Given the description of an element on the screen output the (x, y) to click on. 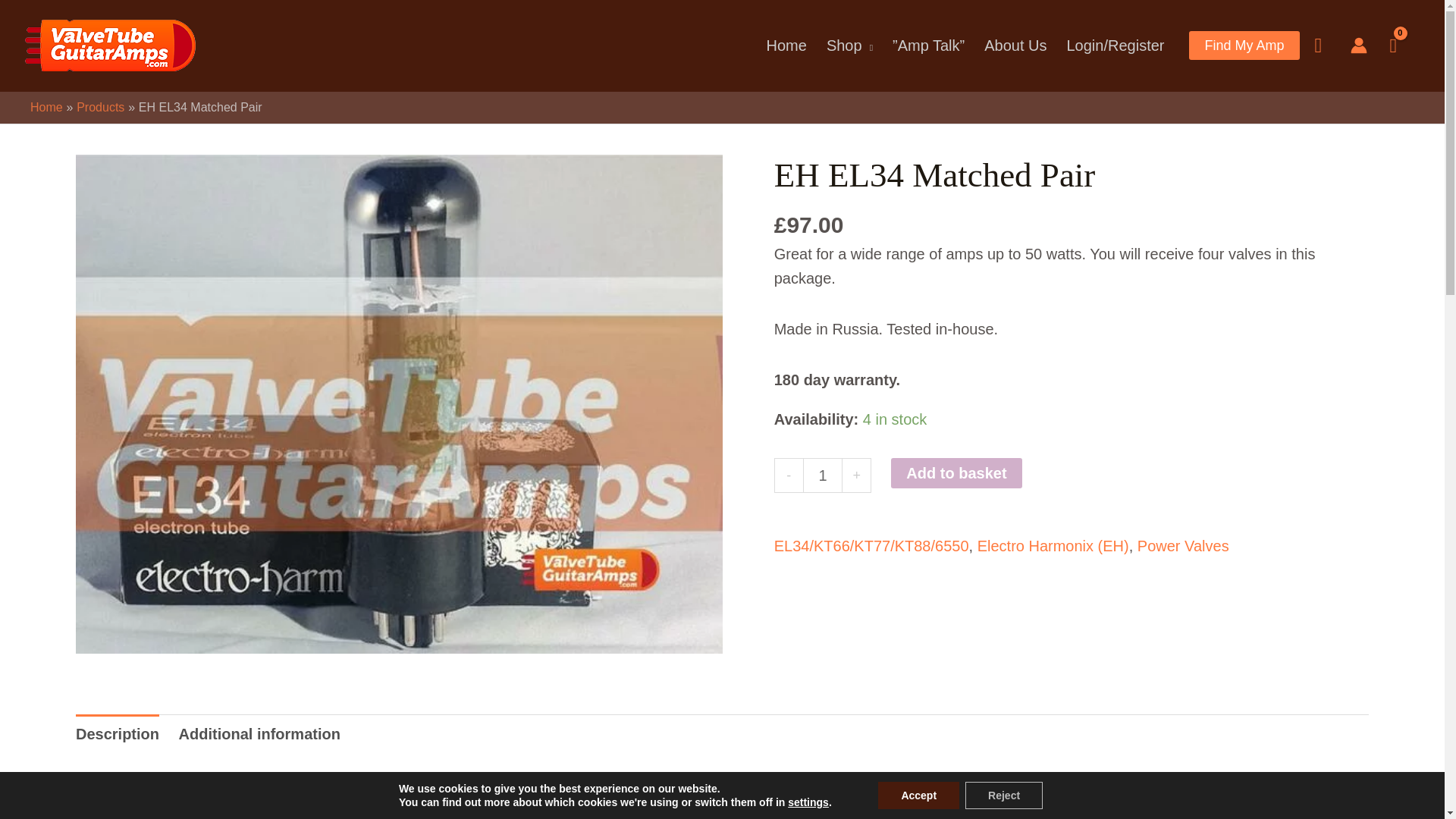
Home (786, 45)
1 (823, 475)
Shop (849, 45)
